Given the description of an element on the screen output the (x, y) to click on. 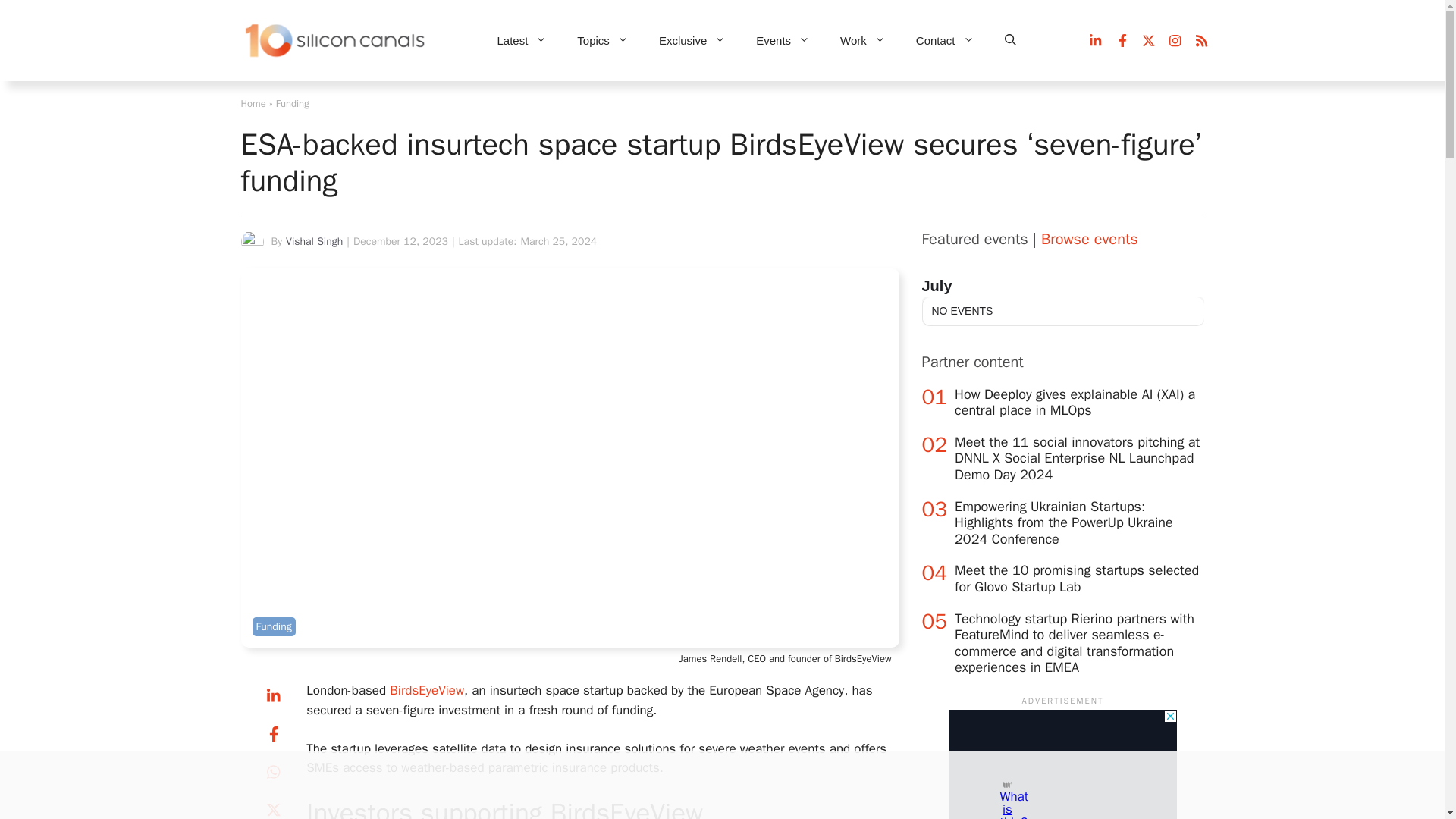
Topics (602, 40)
Events (783, 40)
Latest (521, 40)
Exclusive (692, 40)
3rd party ad content (708, 785)
Work (863, 40)
SC 10 year horizontal (335, 40)
3rd party ad content (1062, 764)
